Given the description of an element on the screen output the (x, y) to click on. 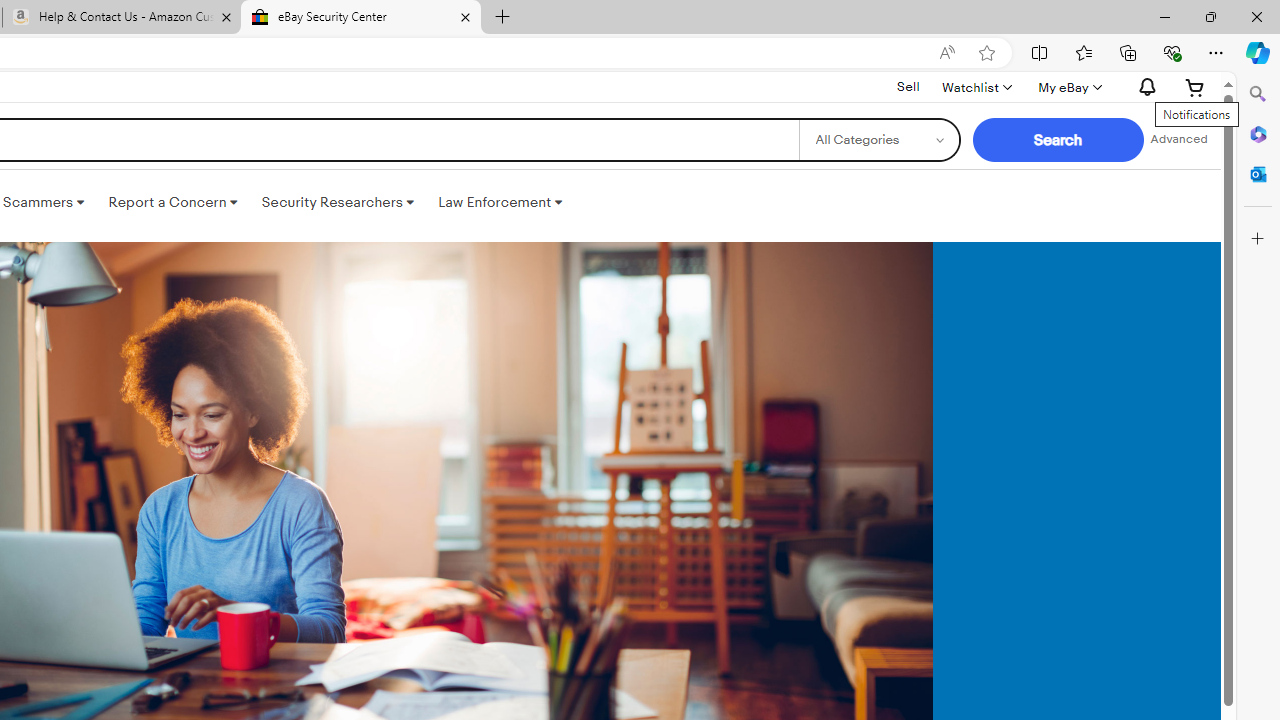
Sell (908, 87)
eBay Security Center (360, 17)
